Given the description of an element on the screen output the (x, y) to click on. 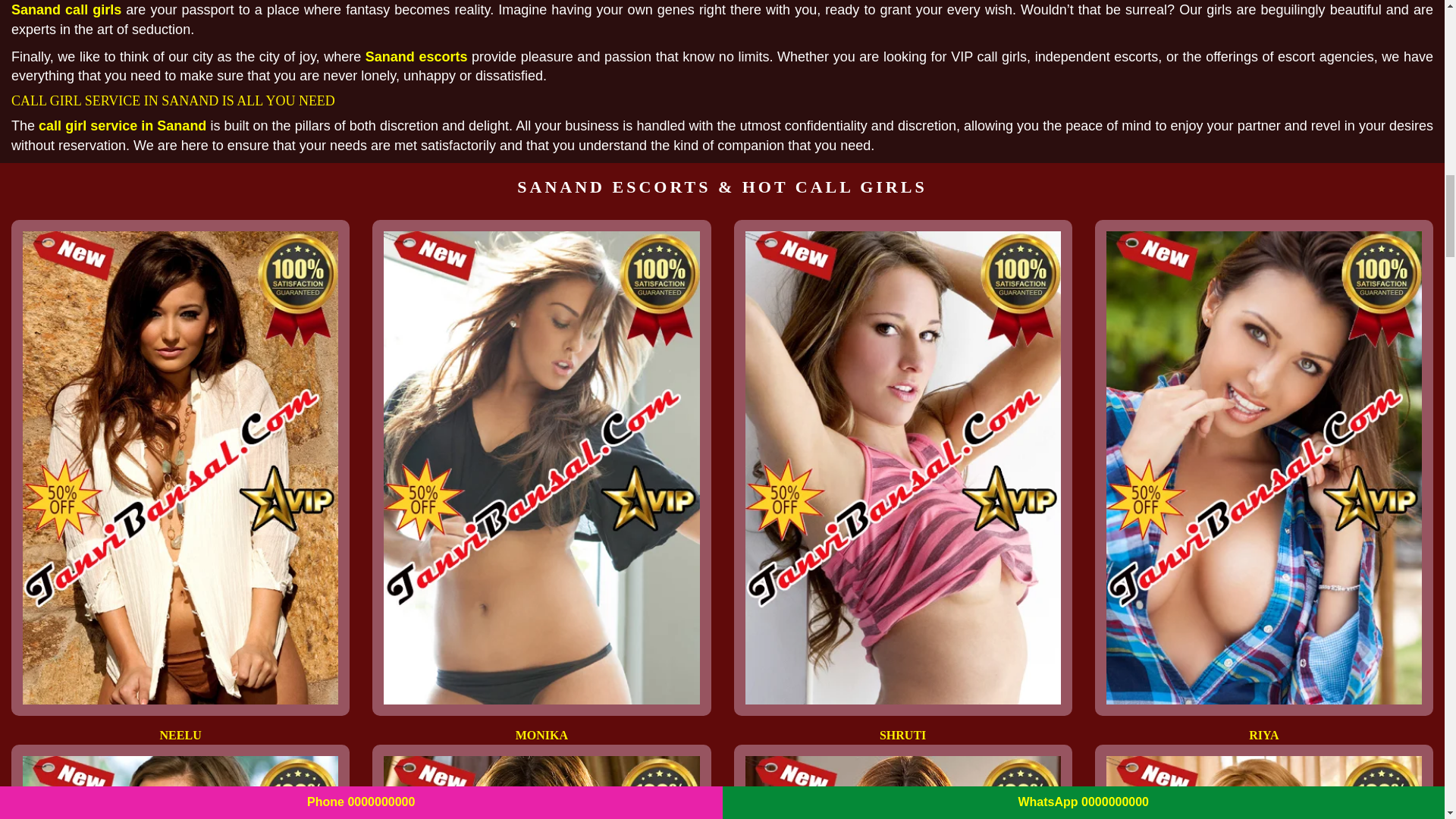
Banjara Hills Escorts - Rihanna (541, 787)
Kukatpally Escorts- Tamanna (180, 787)
Jubilee Hills Escorts - Reine (901, 787)
Gachibowli Escorts - Pooja (1264, 787)
